Given the description of an element on the screen output the (x, y) to click on. 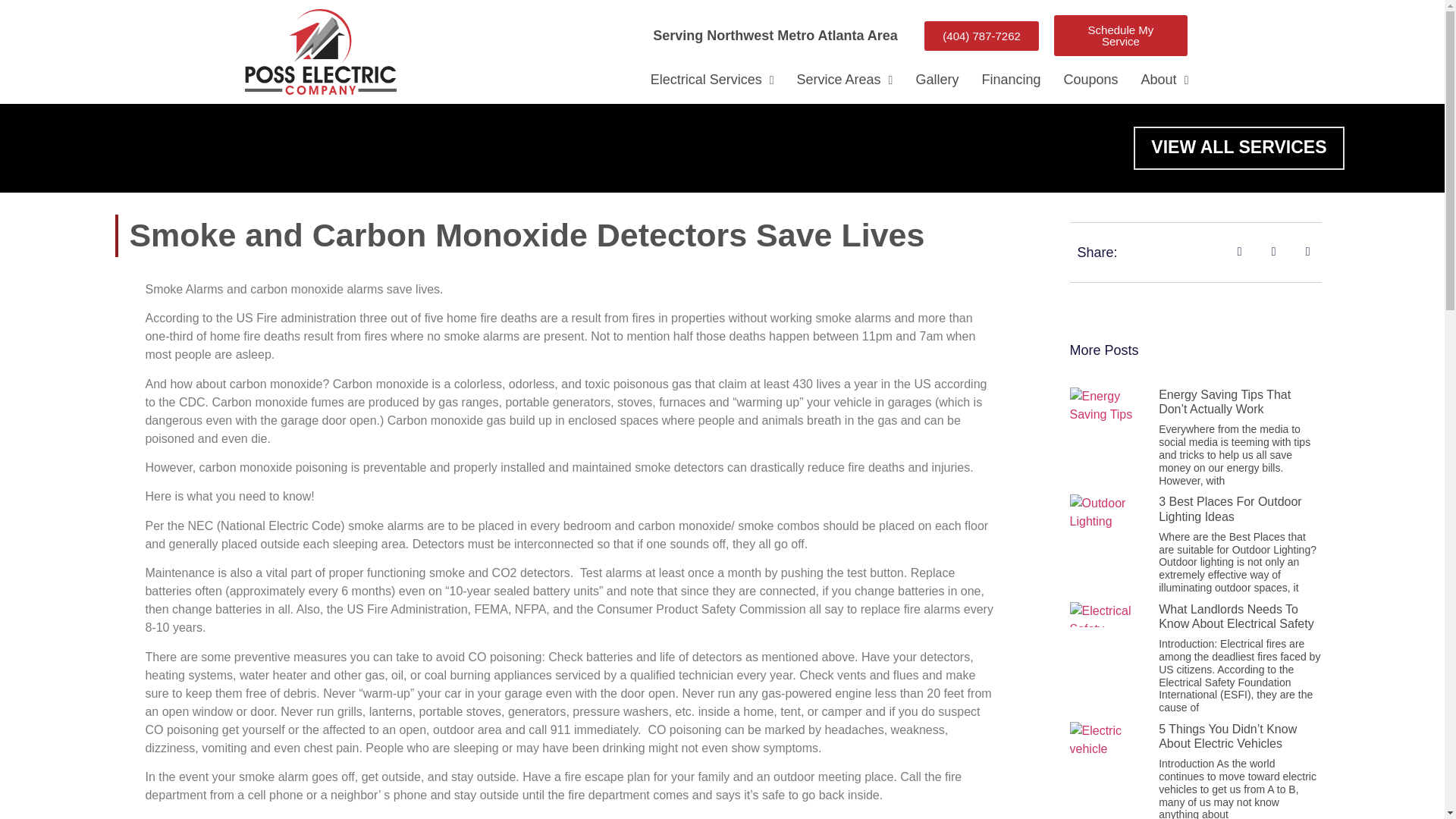
Electrical Services (712, 79)
Schedule My Service (1121, 35)
Serving Northwest Metro Atlanta Area (775, 35)
Service Areas (845, 79)
